Given the description of an element on the screen output the (x, y) to click on. 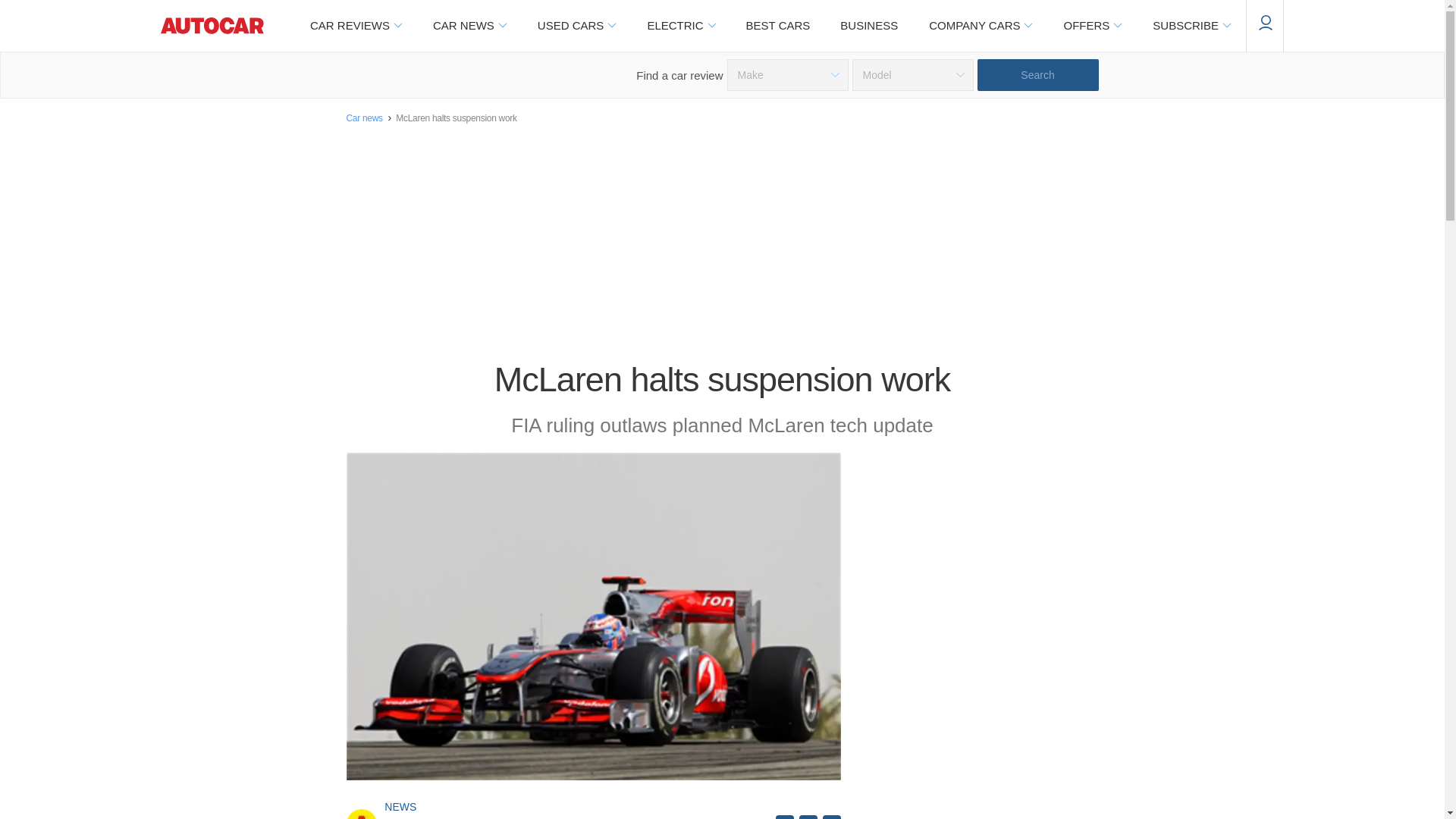
Search (1036, 74)
BEST CARS (777, 26)
Search (1036, 74)
Autocar Electric (680, 26)
CAR NEWS (468, 26)
COMPANY CARS (979, 26)
Autocar Business news, insight and opinion (868, 26)
SUBSCRIBE (1191, 26)
USED CARS (576, 26)
Top 10 cars by segment (777, 26)
